Given the description of an element on the screen output the (x, y) to click on. 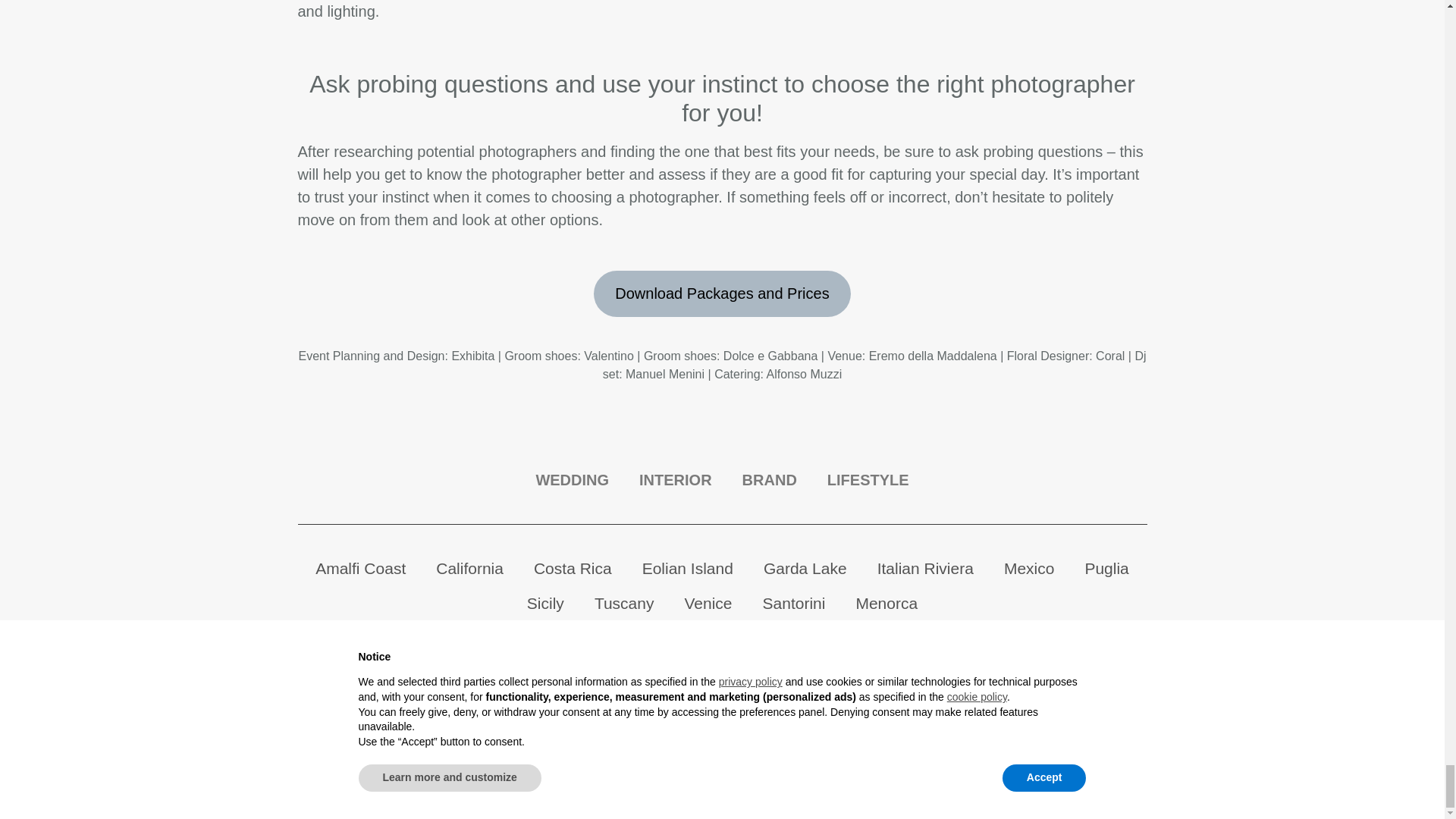
Coral (1110, 355)
Eremo della Maddalena (933, 355)
Dolce e Gabbana (770, 355)
Eolian Island (687, 568)
WEDDING (571, 479)
Valentino (608, 355)
BRAND (769, 479)
INTERIOR (675, 479)
Mexico (1029, 568)
Exhibita (473, 355)
Costa Rica (572, 568)
Garda Lake (804, 568)
Manuel Menini (665, 373)
California (469, 568)
Alfonso Muzzi (805, 373)
